Given the description of an element on the screen output the (x, y) to click on. 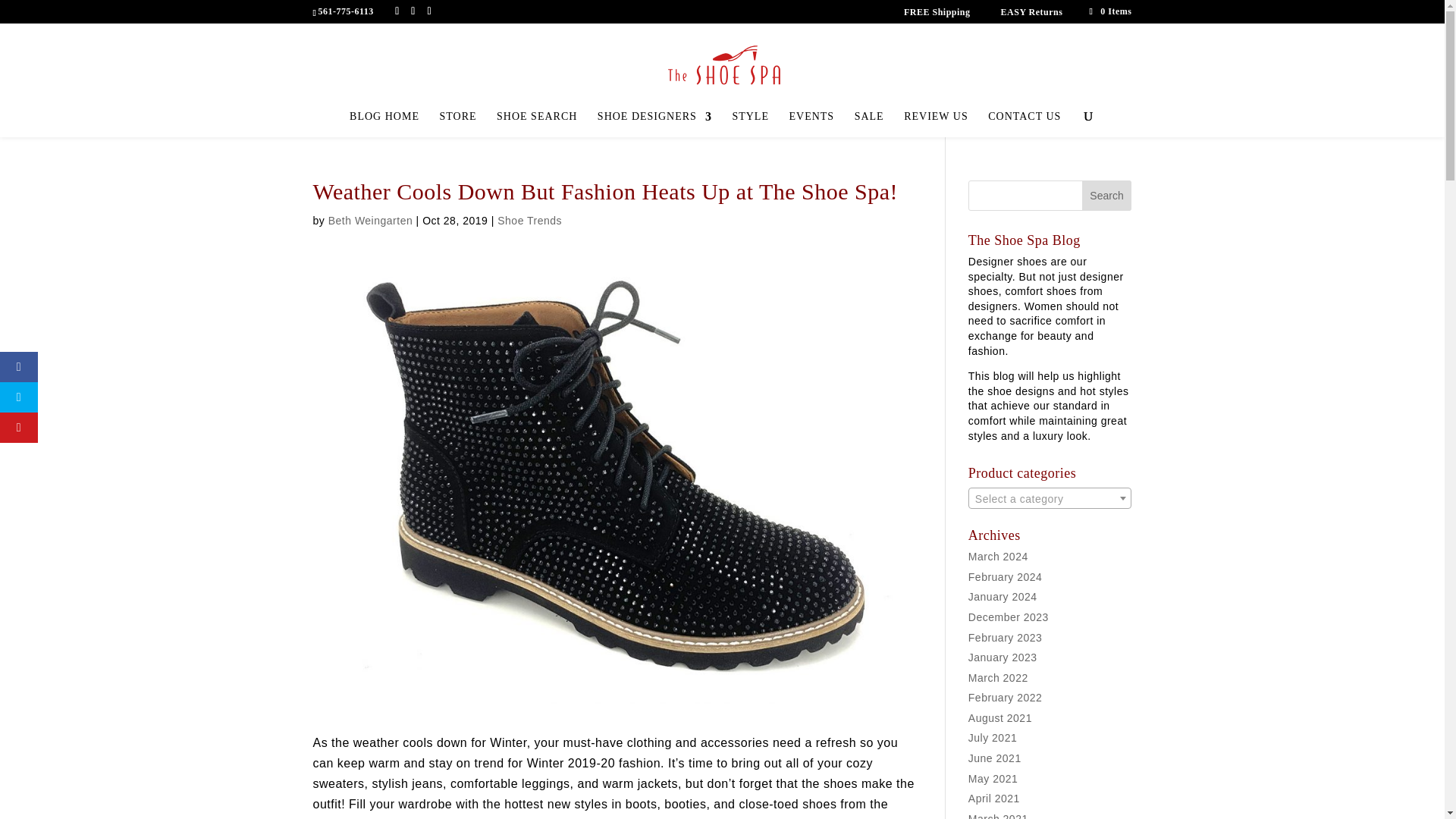
EASY Returns (1031, 11)
Search (1106, 195)
0 Items (1110, 10)
BLOG HOME (384, 124)
FREE Shipping (937, 11)
SHOE SEARCH (536, 124)
Posts by Beth Weingarten (371, 220)
SHOE DESIGNERS (653, 124)
STORE (457, 124)
